Given the description of an element on the screen output the (x, y) to click on. 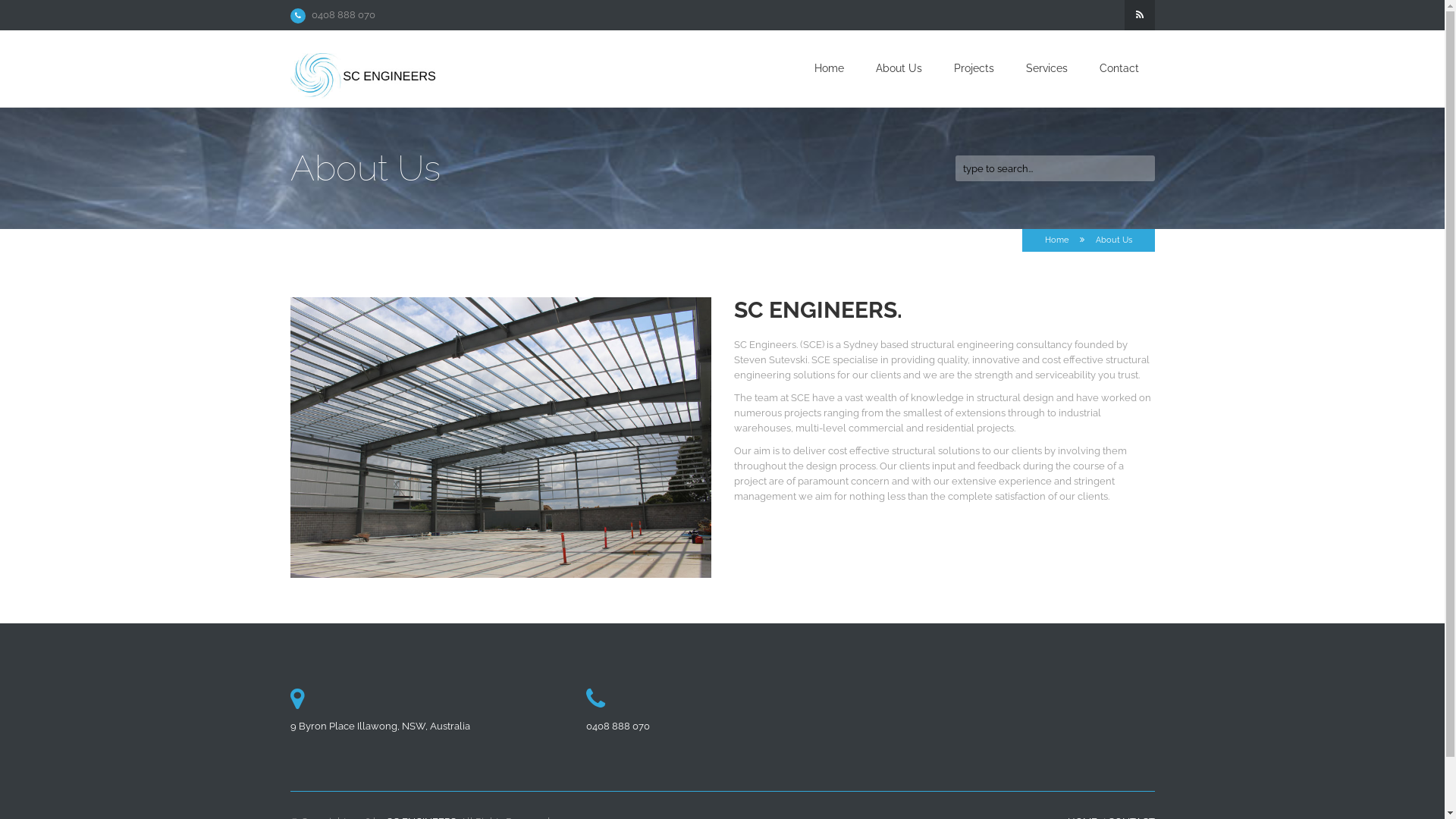
Contact Element type: text (1119, 68)
Home Element type: text (1056, 239)
Services Element type: text (1046, 68)
Home Element type: text (829, 68)
Projects Element type: text (973, 68)
About Us Element type: text (897, 68)
